Given the description of an element on the screen output the (x, y) to click on. 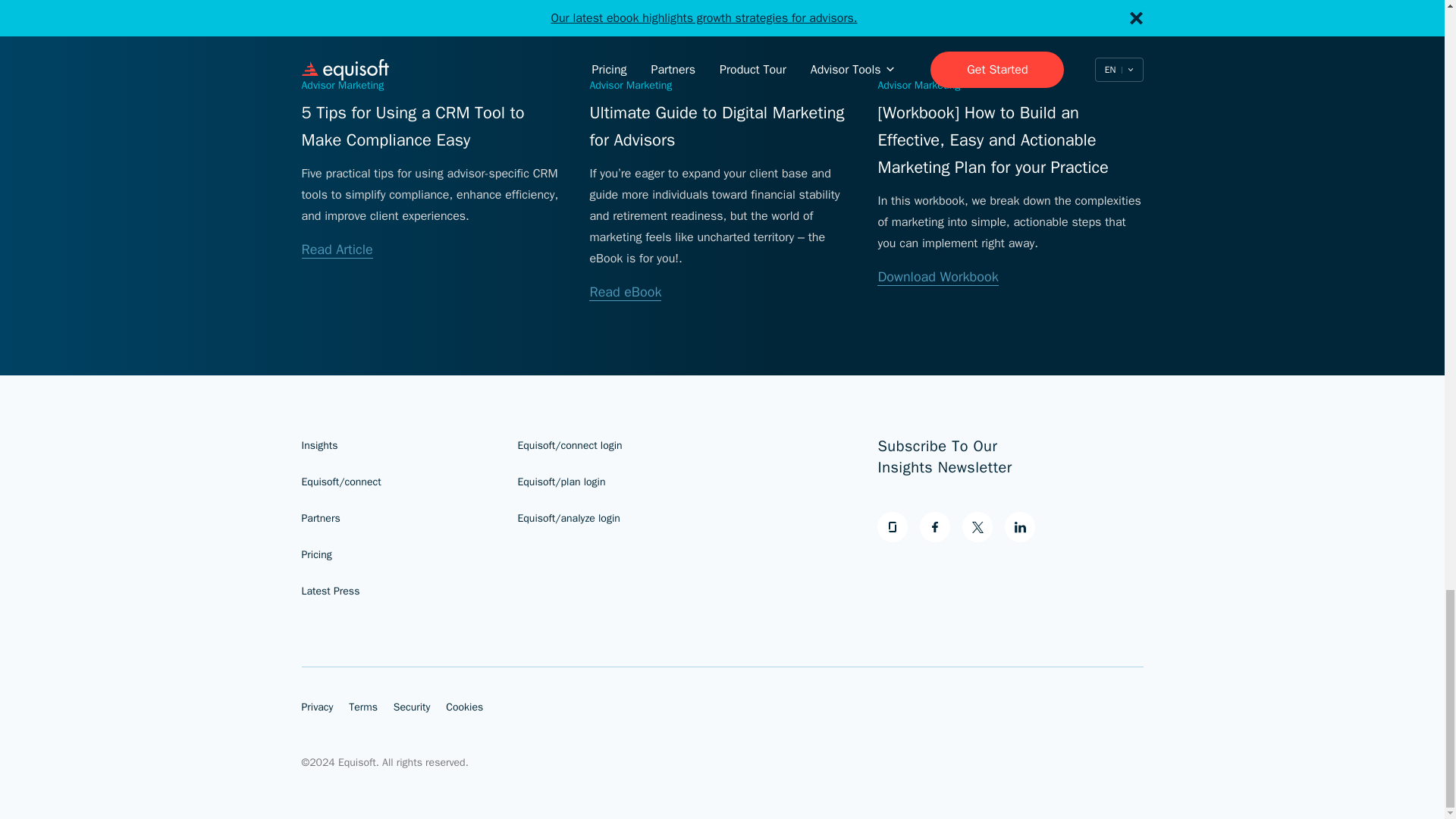
Download Workbook (937, 276)
Latest Press (330, 590)
Pricing (316, 554)
Read Article (336, 249)
Partners (320, 517)
Insights (319, 445)
Read eBook (625, 292)
